Given the description of an element on the screen output the (x, y) to click on. 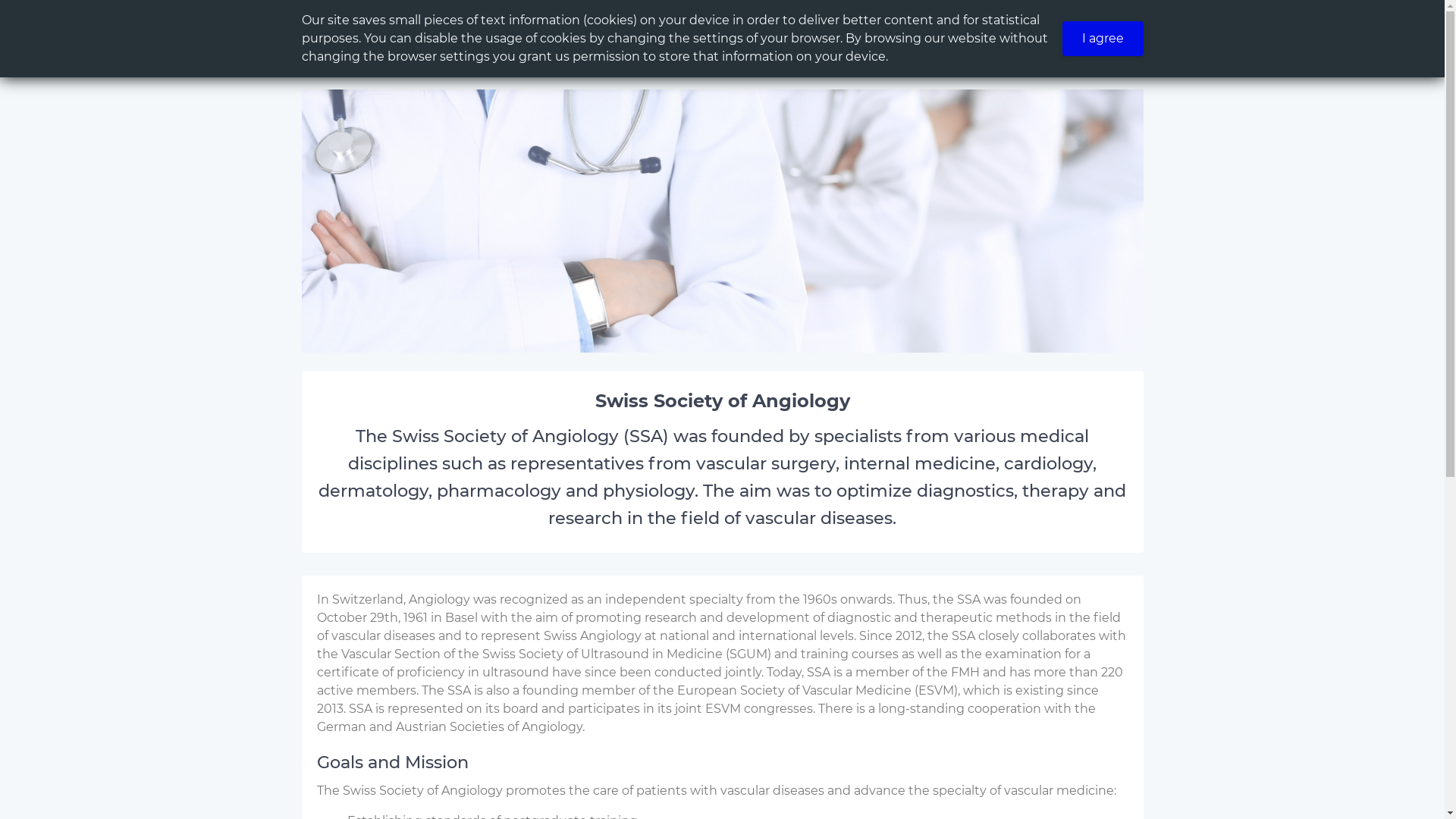
Postgraduate and advanced education Element type: text (1063, 33)
News and Publications Element type: text (1296, 33)
Vascular Medicine Element type: text (755, 33)
Society Element type: text (876, 33)
I agree Element type: text (1101, 38)
